Given the description of an element on the screen output the (x, y) to click on. 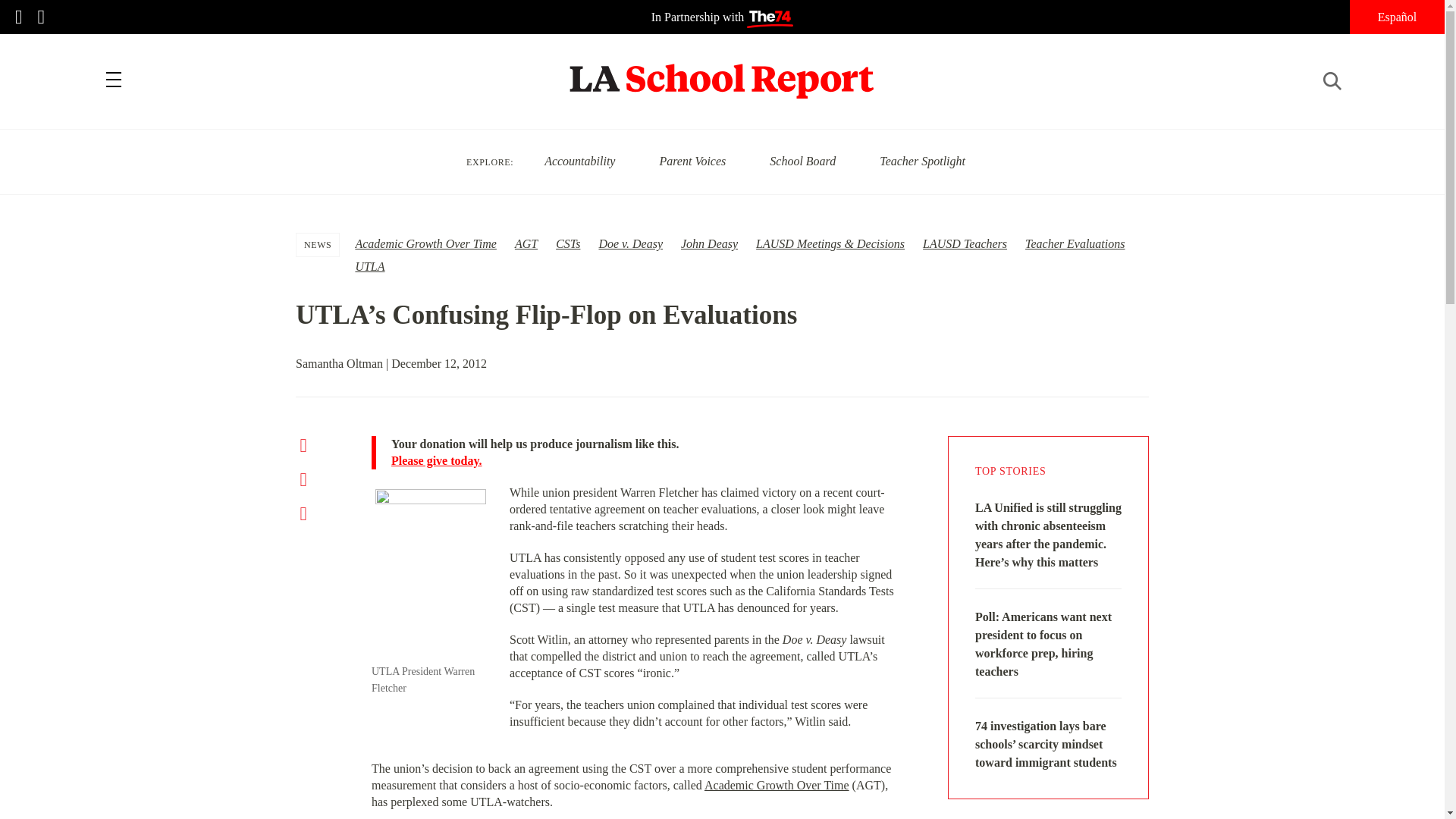
Doe v. Deasy (630, 243)
Teacher Spotlight (922, 160)
LA School Report (721, 71)
Academic Growth Over Time (425, 243)
CSTs (567, 243)
LAUSD Teachers (965, 243)
AGT (526, 243)
NEWS (317, 244)
UTLA (369, 266)
School Board (802, 160)
